Given the description of an element on the screen output the (x, y) to click on. 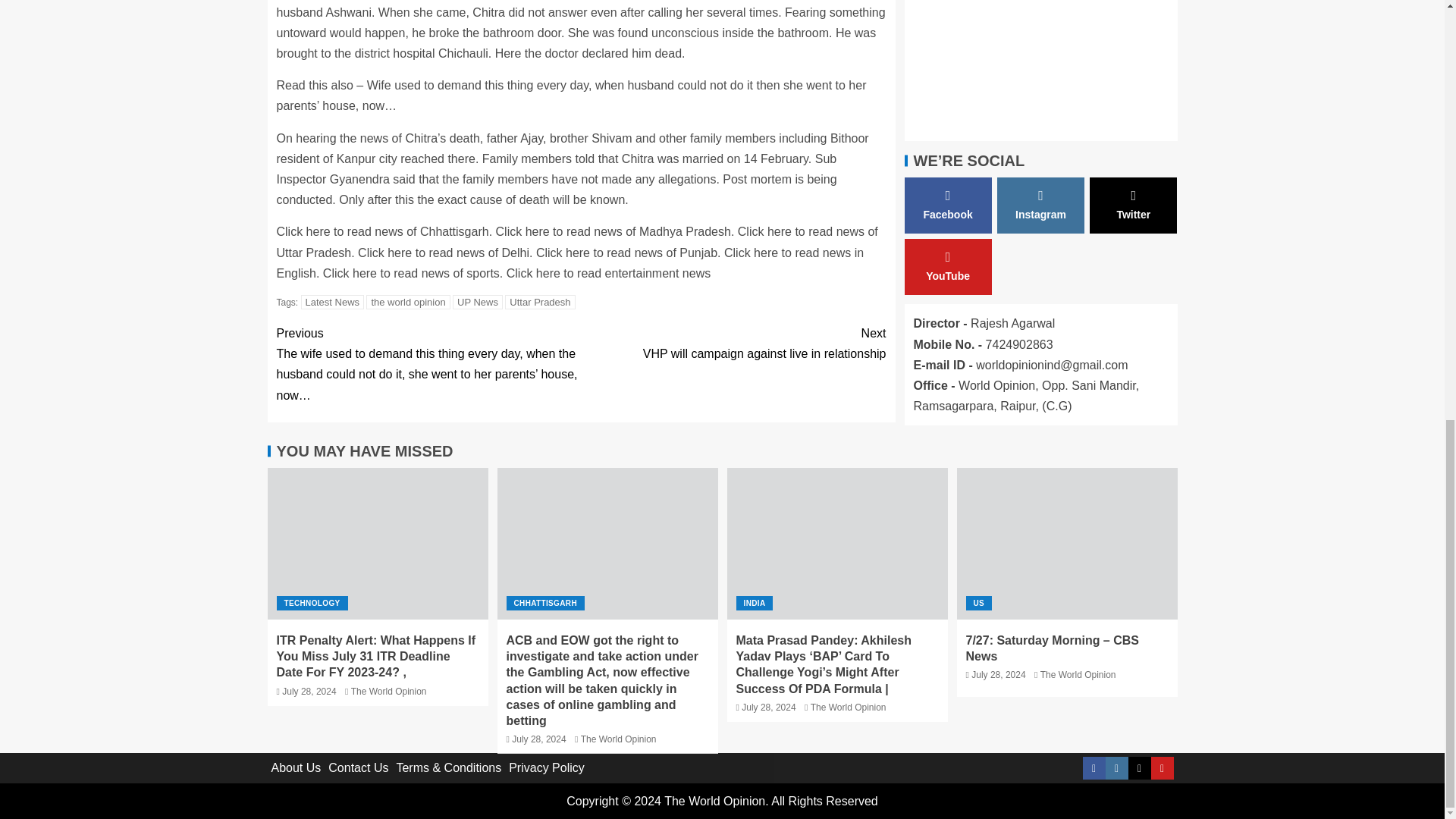
UP News (477, 301)
Uttar Pradesh (540, 301)
Latest News (333, 301)
the world opinion (407, 301)
